Given the description of an element on the screen output the (x, y) to click on. 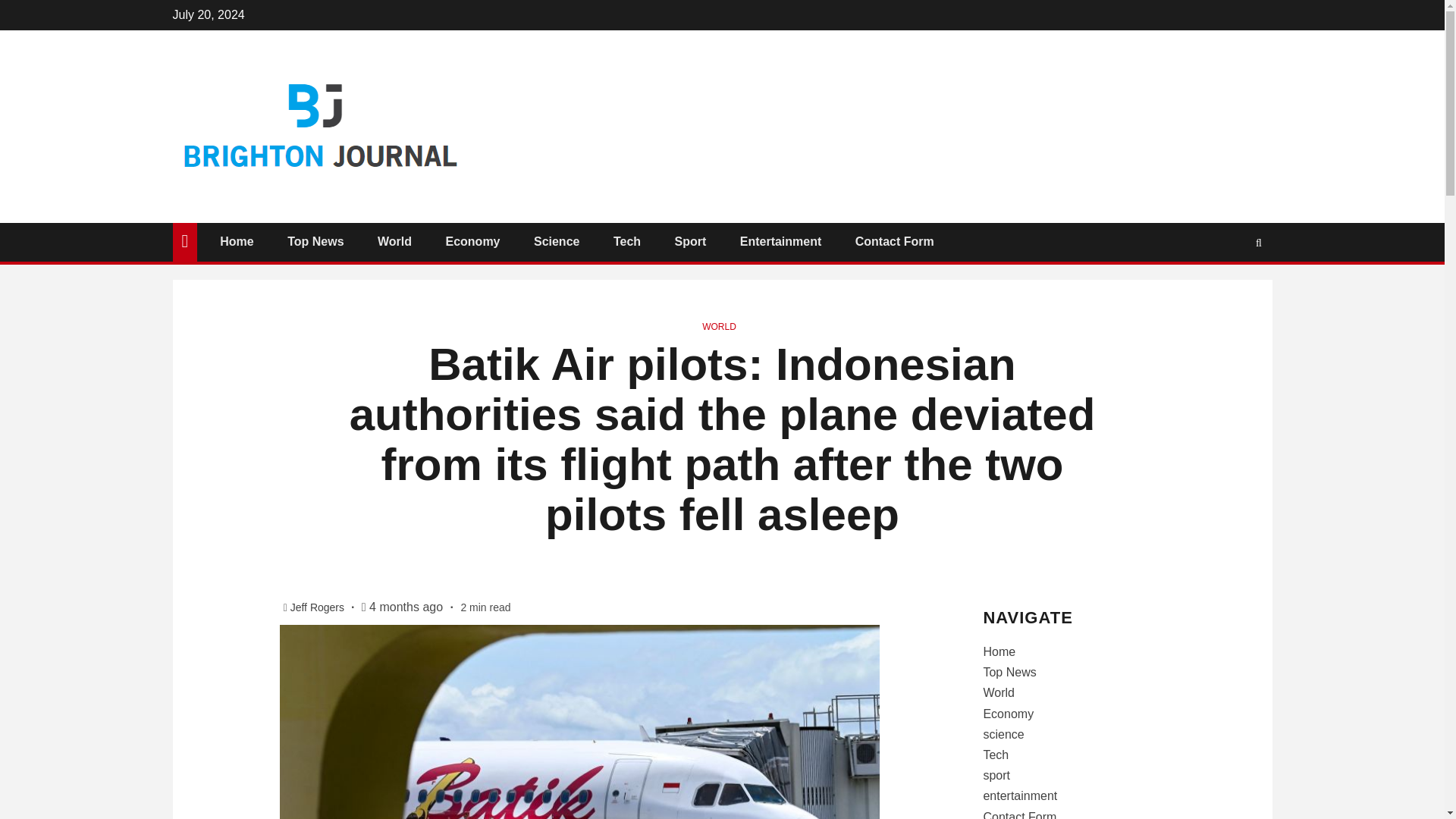
Economy (1007, 713)
Tech (626, 241)
World (394, 241)
Sport (690, 241)
Entertainment (780, 241)
WORLD (718, 326)
Contact Form (895, 241)
Jeff Rogers (318, 607)
Science (556, 241)
Home (998, 651)
Home (236, 241)
Economy (472, 241)
Top News (314, 241)
World (998, 692)
